Given the description of an element on the screen output the (x, y) to click on. 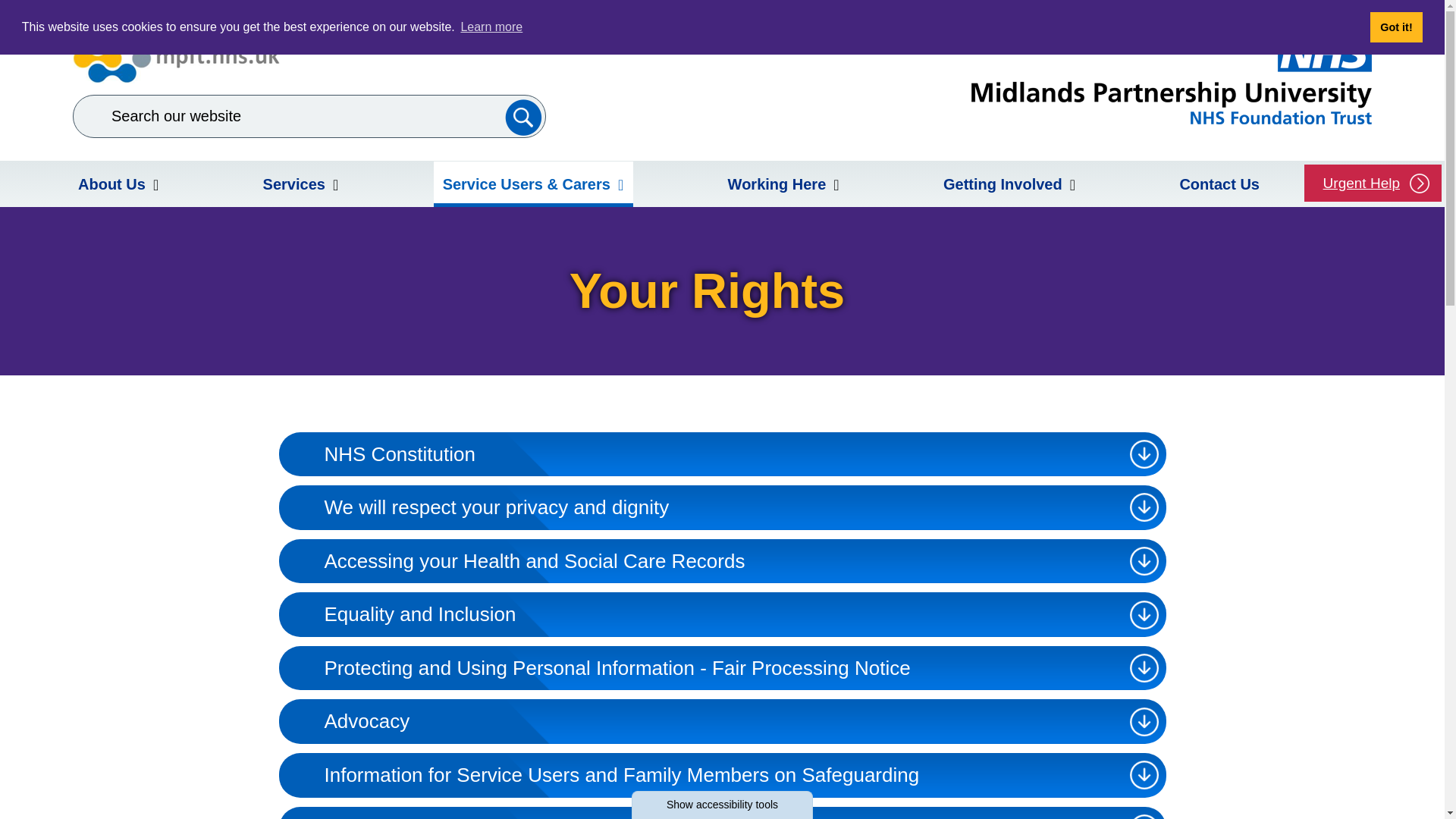
Learn more (491, 26)
Homepage (175, 58)
Got it! (1396, 27)
About Us (118, 184)
Urgent Help (1372, 182)
Homepage (1171, 78)
Services (300, 184)
